Given the description of an element on the screen output the (x, y) to click on. 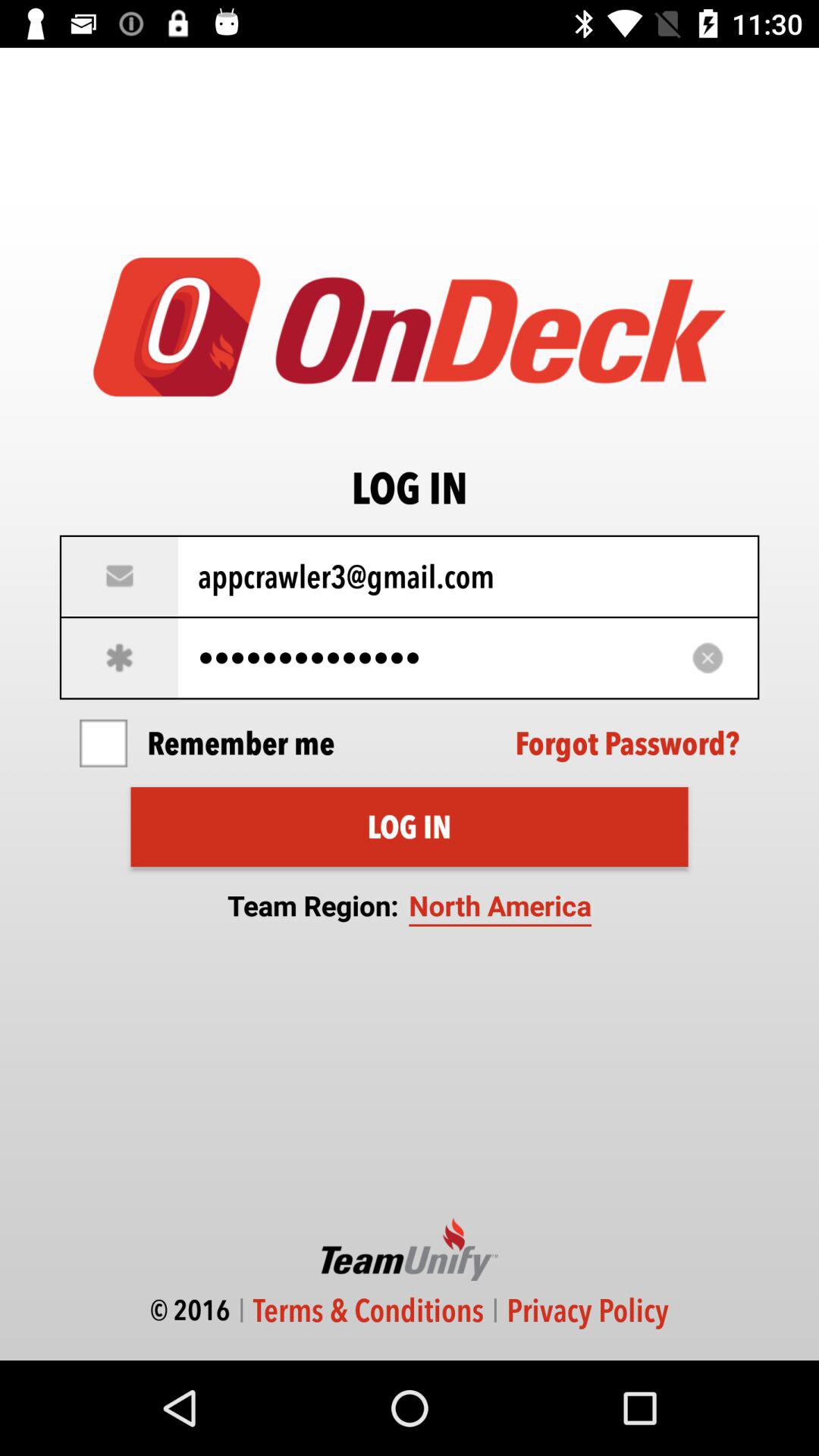
choose the icon next to remember me item (627, 743)
